Given the description of an element on the screen output the (x, y) to click on. 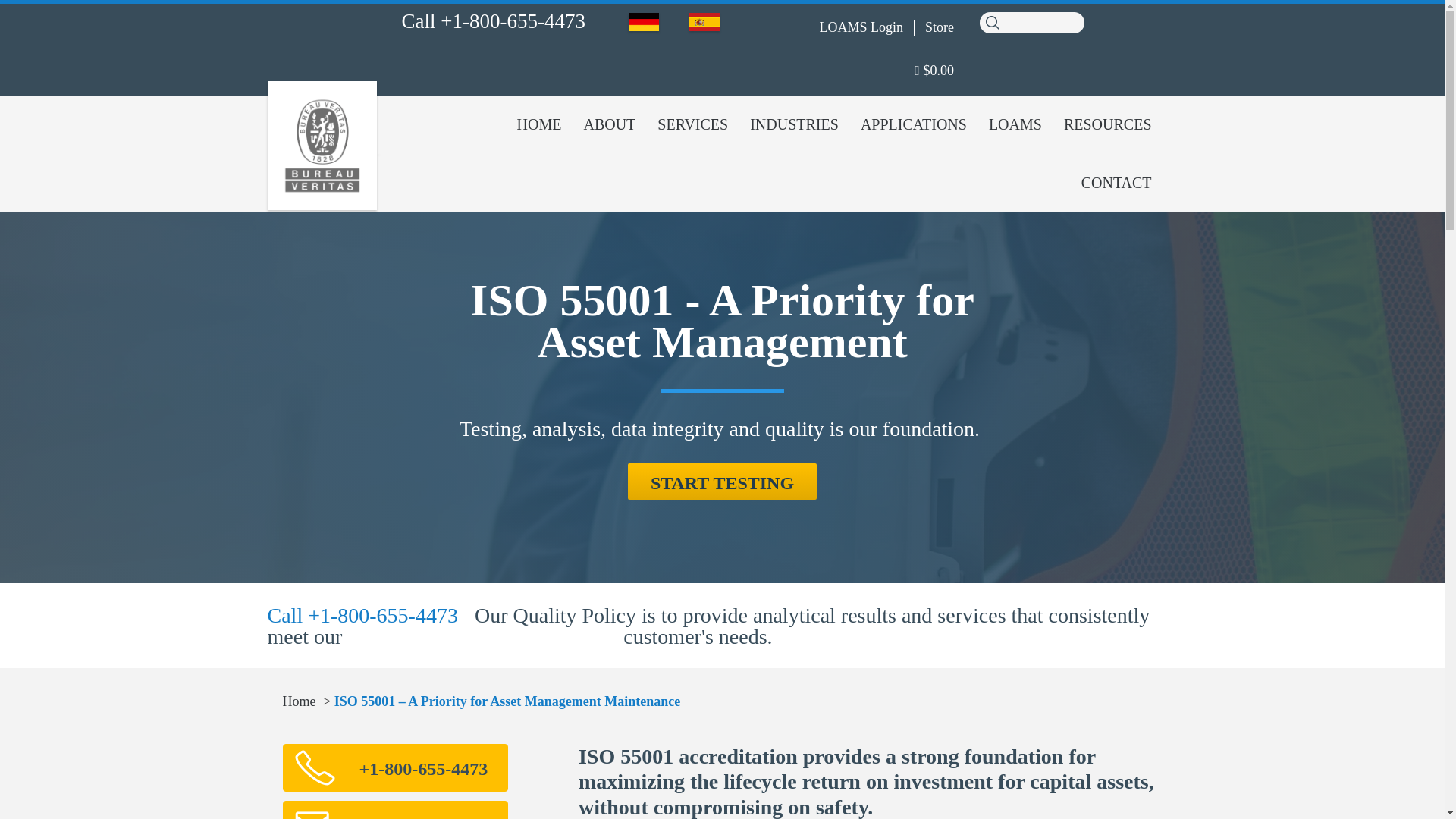
HOME (539, 124)
Search (991, 21)
Go to Home. (298, 701)
INDUSTRIES (793, 124)
ABOUT (609, 124)
Start shopping (933, 70)
Search (991, 21)
Store (938, 27)
Search (991, 21)
